Given the description of an element on the screen output the (x, y) to click on. 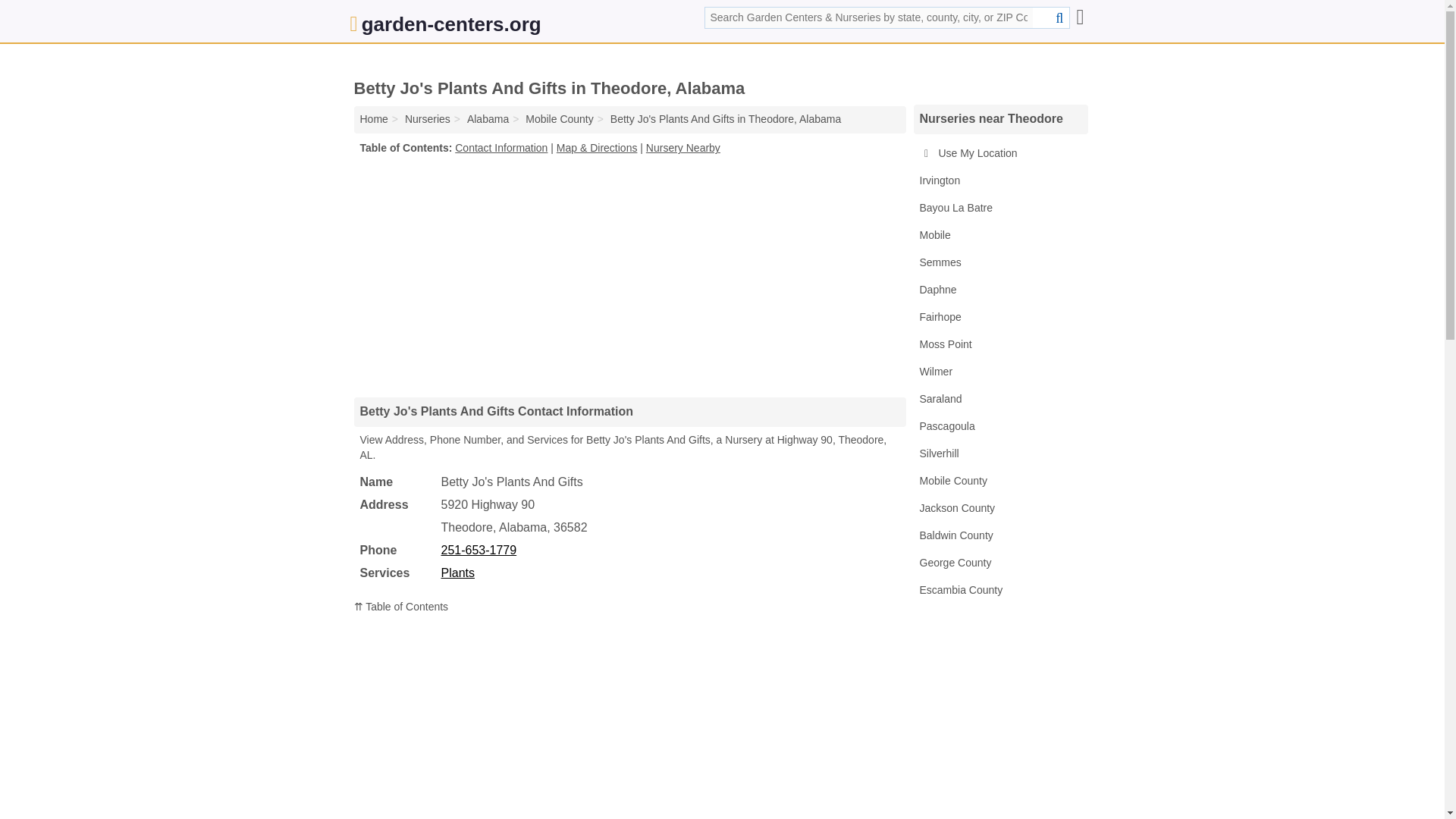
Advertisement (629, 723)
Mobile (999, 235)
Nurseries (426, 119)
Advertisement (629, 275)
Alabama (487, 119)
Nurseries Near Me (426, 119)
Betty Jo's Plants And Gifts in Theodore, Alabama (725, 119)
251-653-1779 (478, 549)
Plants (457, 572)
garden-centers.org (445, 27)
Nurseries in Mobile County, AL (559, 119)
Home (373, 119)
Betty Jo's Plants And Gifts in Theodore, Alabama (725, 119)
Daphne (999, 289)
Irvington (999, 180)
